Given the description of an element on the screen output the (x, y) to click on. 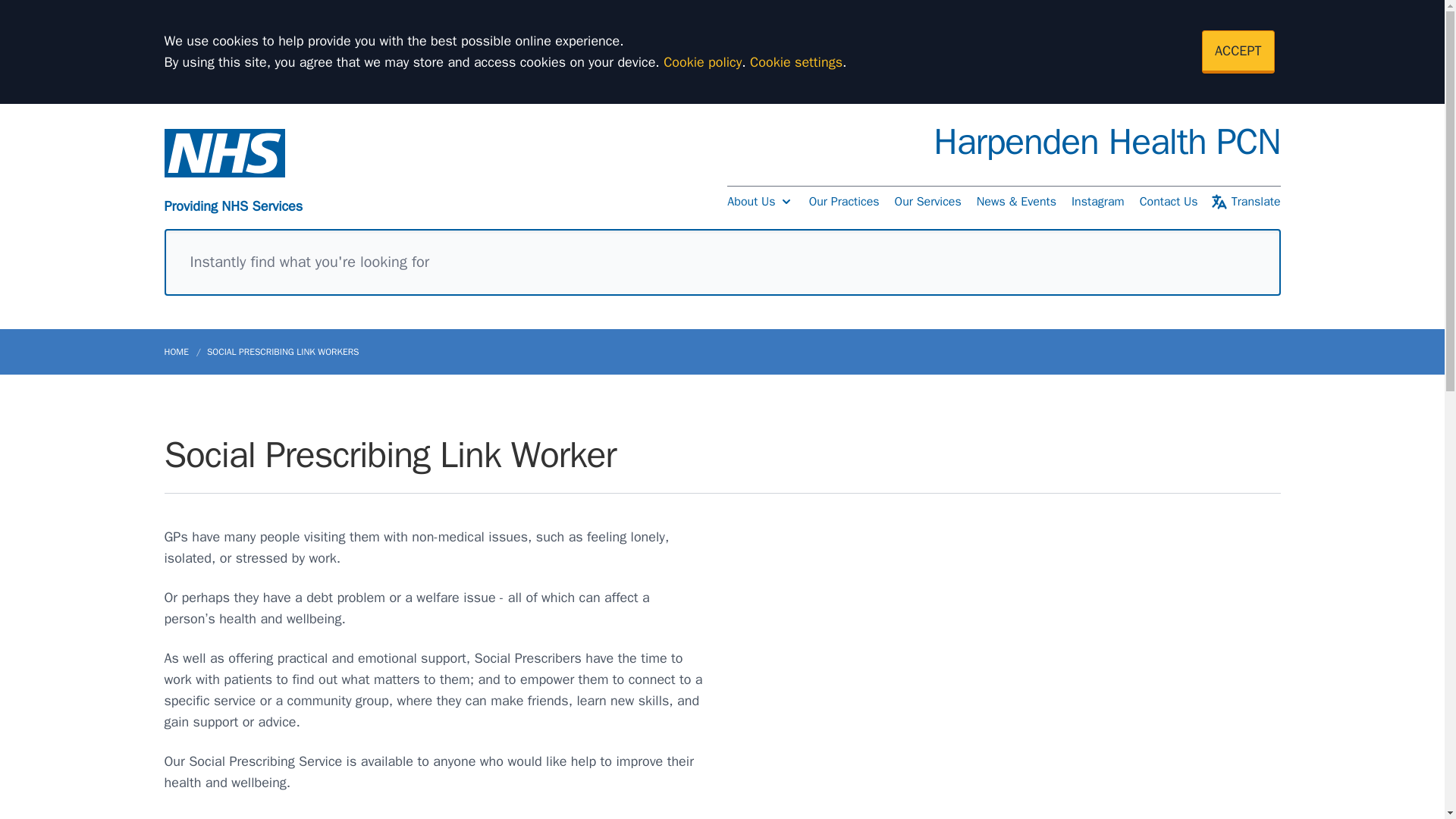
ACCEPT (1238, 51)
Cookie settings (796, 62)
HOME (181, 351)
Providing NHS Services (232, 172)
Our Services (927, 201)
Cookie policy (702, 62)
Our Practices (844, 201)
Contact Us (1169, 201)
Instagram (1097, 201)
